Given the description of an element on the screen output the (x, y) to click on. 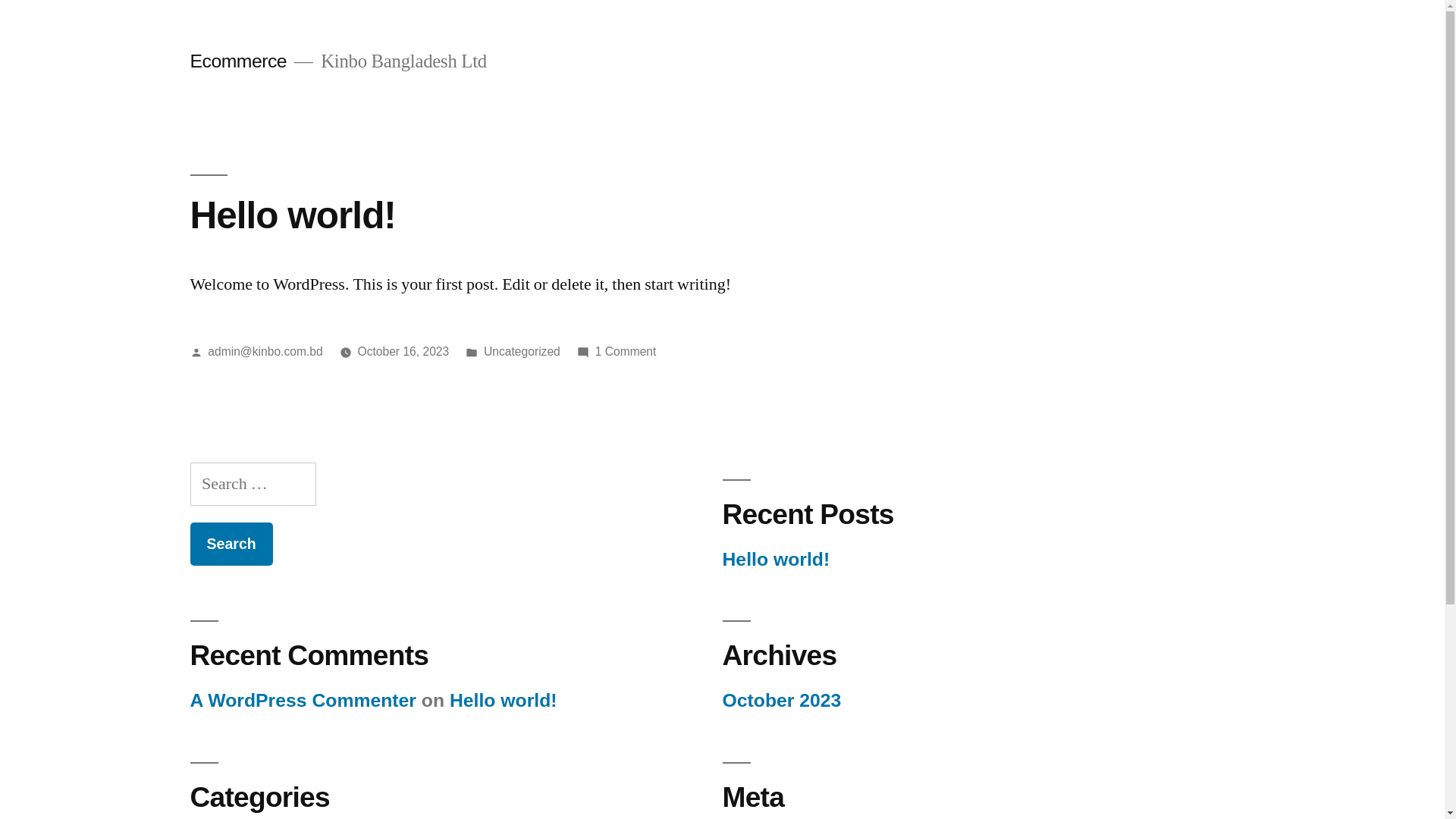
October 2023 Element type: text (780, 700)
Hello world! Element type: text (503, 700)
Search Element type: text (230, 543)
October 16, 2023 Element type: text (402, 351)
Ecommerce Element type: text (237, 60)
Uncategorized Element type: text (521, 351)
admin@kinbo.com.bd Element type: text (264, 351)
1 Comment
on Hello world! Element type: text (625, 351)
Hello world! Element type: text (775, 559)
A WordPress Commenter Element type: text (302, 700)
Hello world! Element type: text (292, 214)
